Given the description of an element on the screen output the (x, y) to click on. 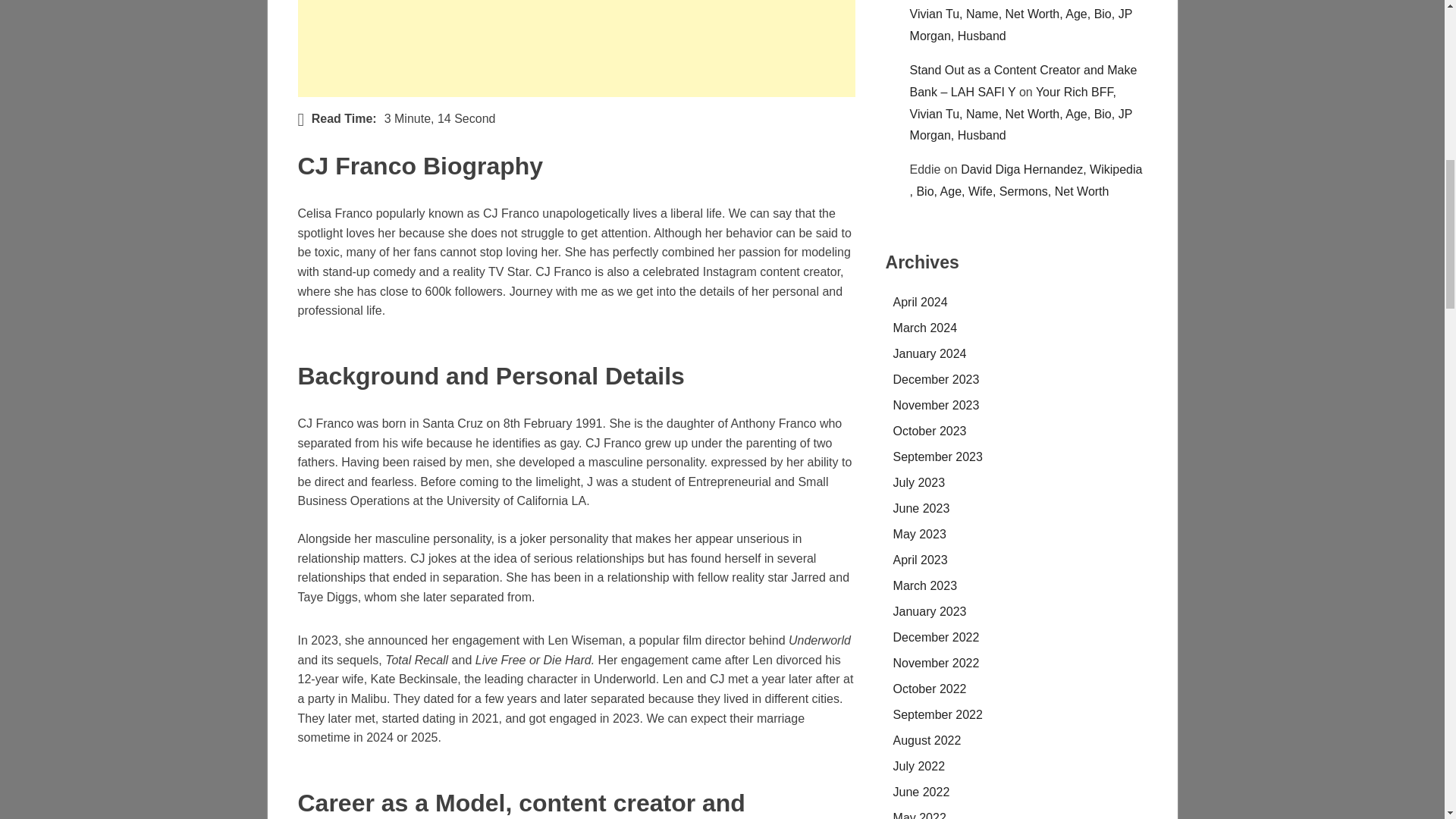
Advertisement (575, 48)
